Given the description of an element on the screen output the (x, y) to click on. 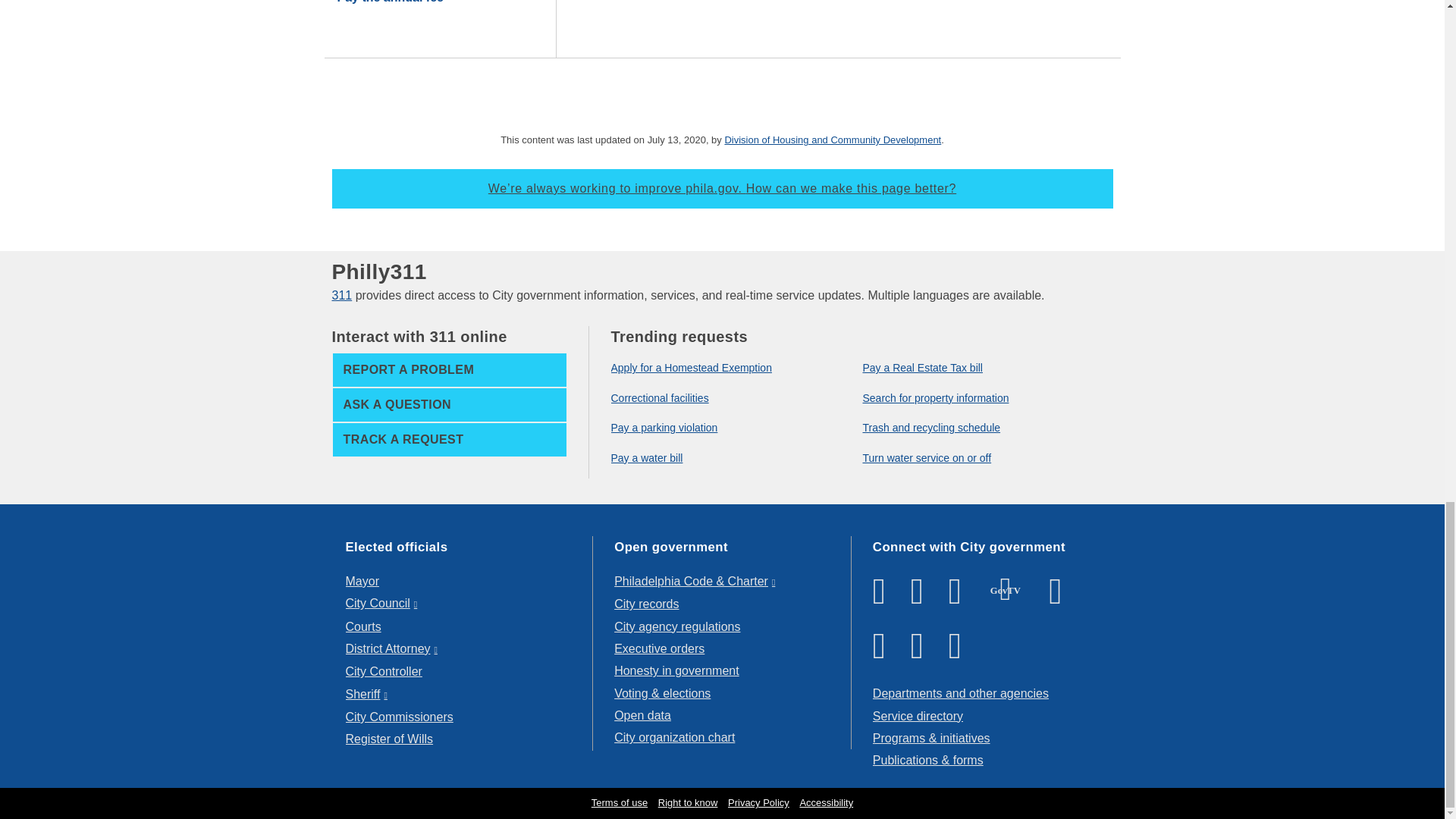
TV (1006, 589)
